Given the description of an element on the screen output the (x, y) to click on. 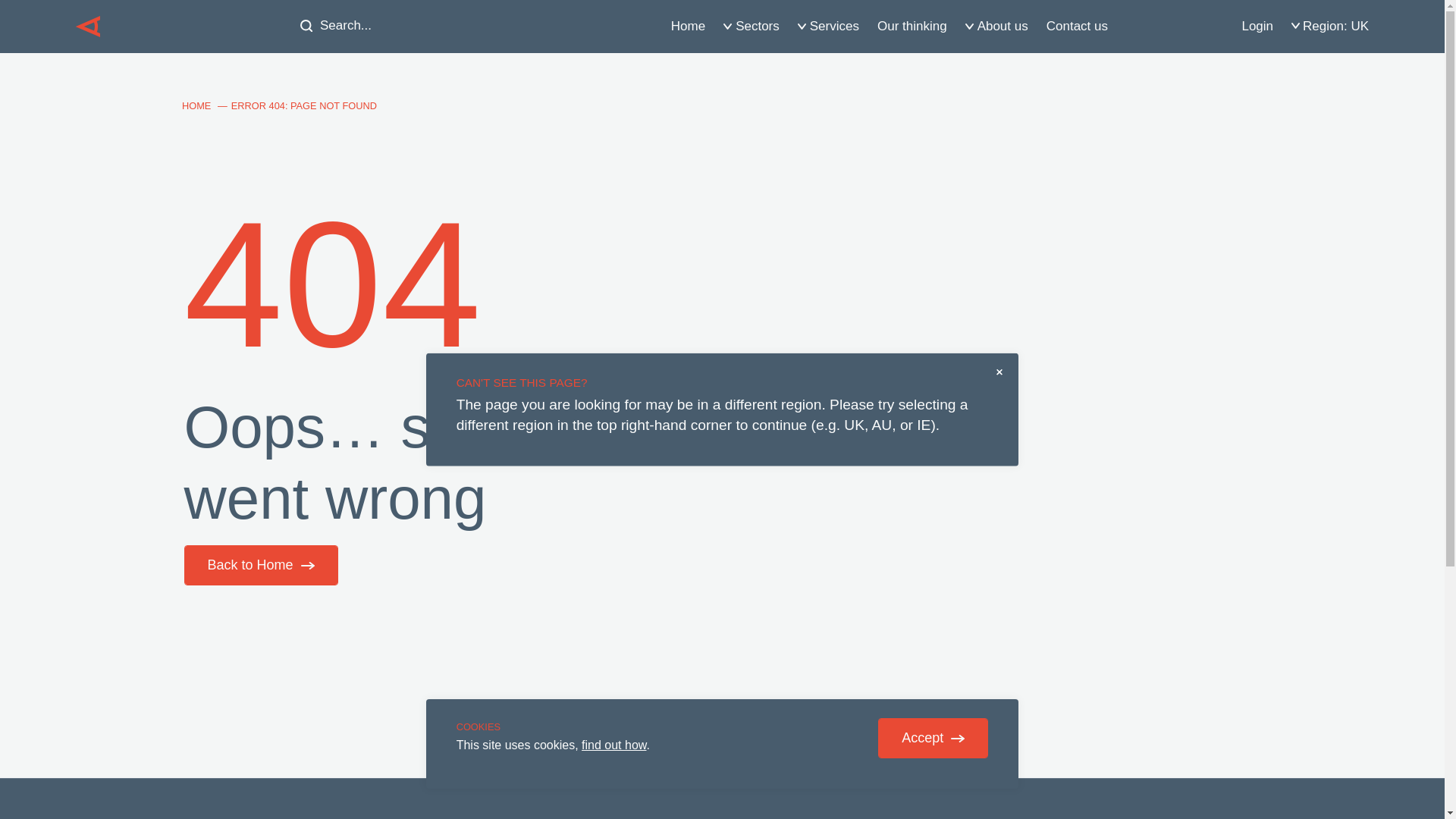
Accept Element type: text (932, 737)
Our thinking Element type: text (912, 25)
Home Element type: text (688, 25)
Login Element type: text (1257, 25)
Subscribe Element type: text (1063, 724)
Contact us Element type: text (1076, 25)
HOME Element type: text (196, 105)
About us Element type: text (996, 26)
Services Element type: text (828, 26)
Sectors Element type: text (751, 26)
Back to Home Element type: text (261, 565)
find out how Element type: text (613, 744)
